Given the description of an element on the screen output the (x, y) to click on. 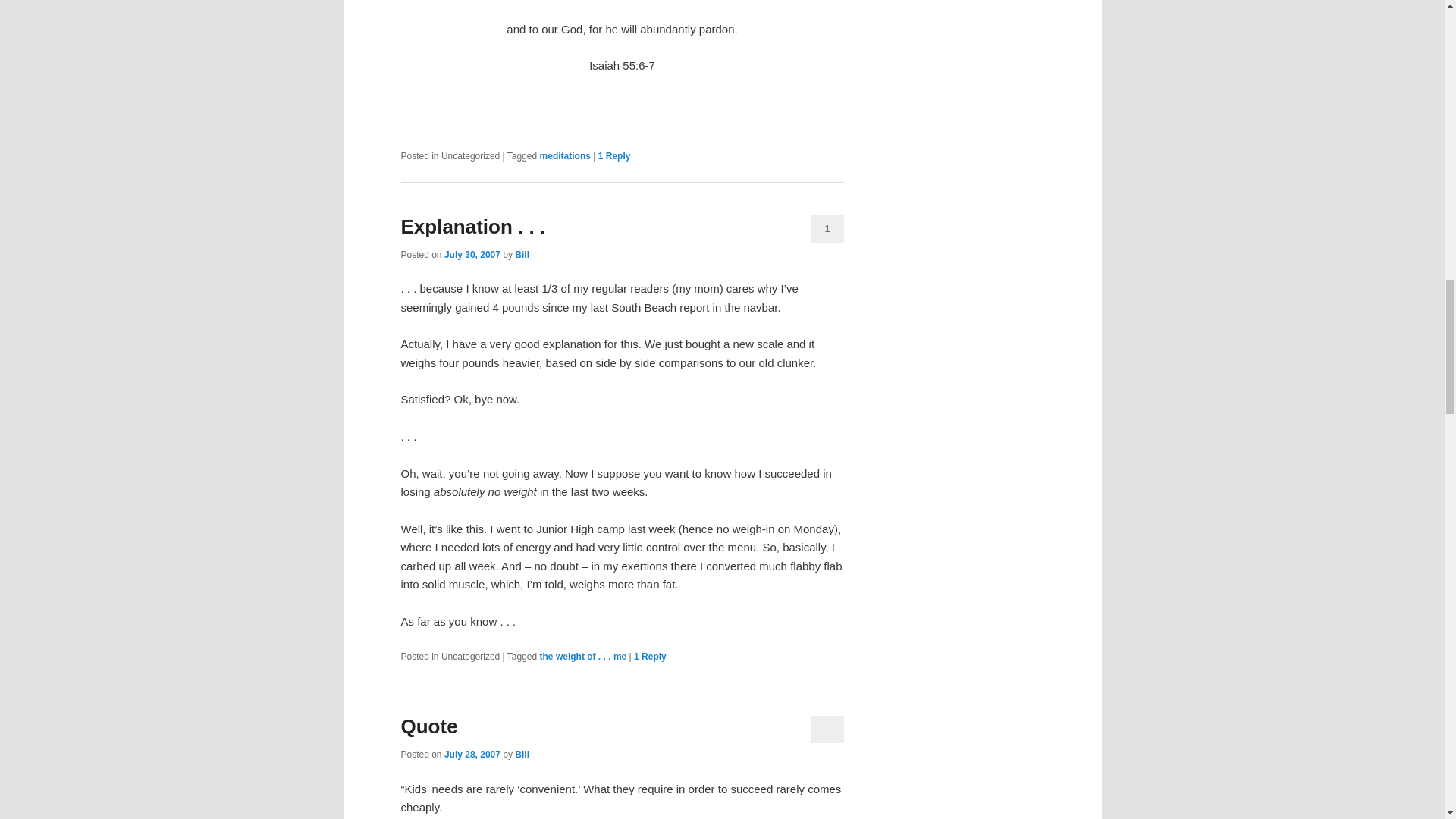
1 Reply (614, 155)
Quote (428, 725)
Bill (522, 754)
Explanation . . . (472, 226)
July 28, 2007 (472, 754)
1 (827, 228)
View all posts by Bill (522, 754)
View all posts by Bill (522, 254)
Bill (522, 254)
7:48 pm (472, 754)
1 Reply (649, 656)
the weight of . . . me (583, 656)
July 30, 2007 (472, 254)
12:52 pm (472, 254)
meditations (565, 155)
